Given the description of an element on the screen output the (x, y) to click on. 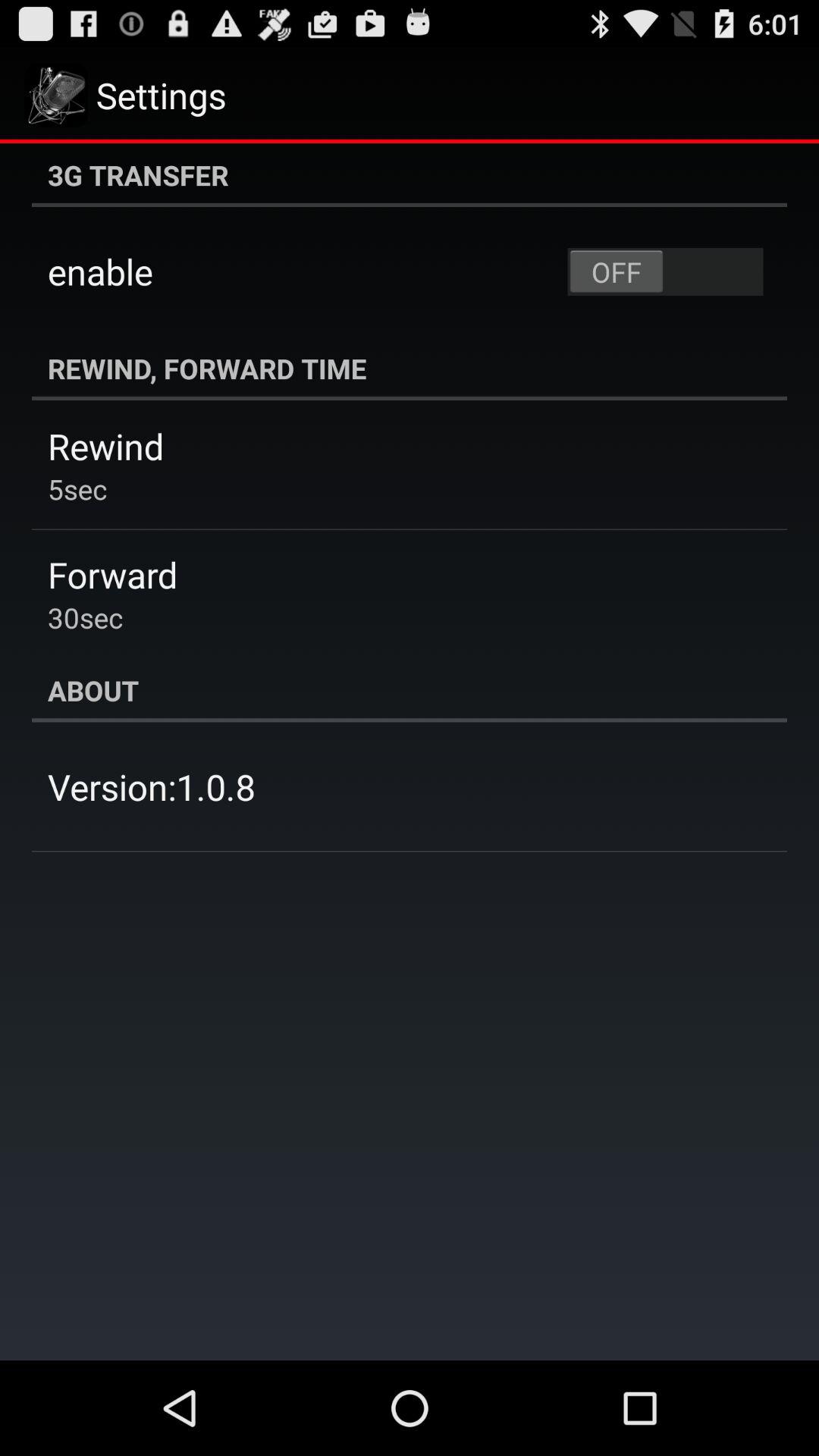
scroll to the 30sec item (85, 617)
